Given the description of an element on the screen output the (x, y) to click on. 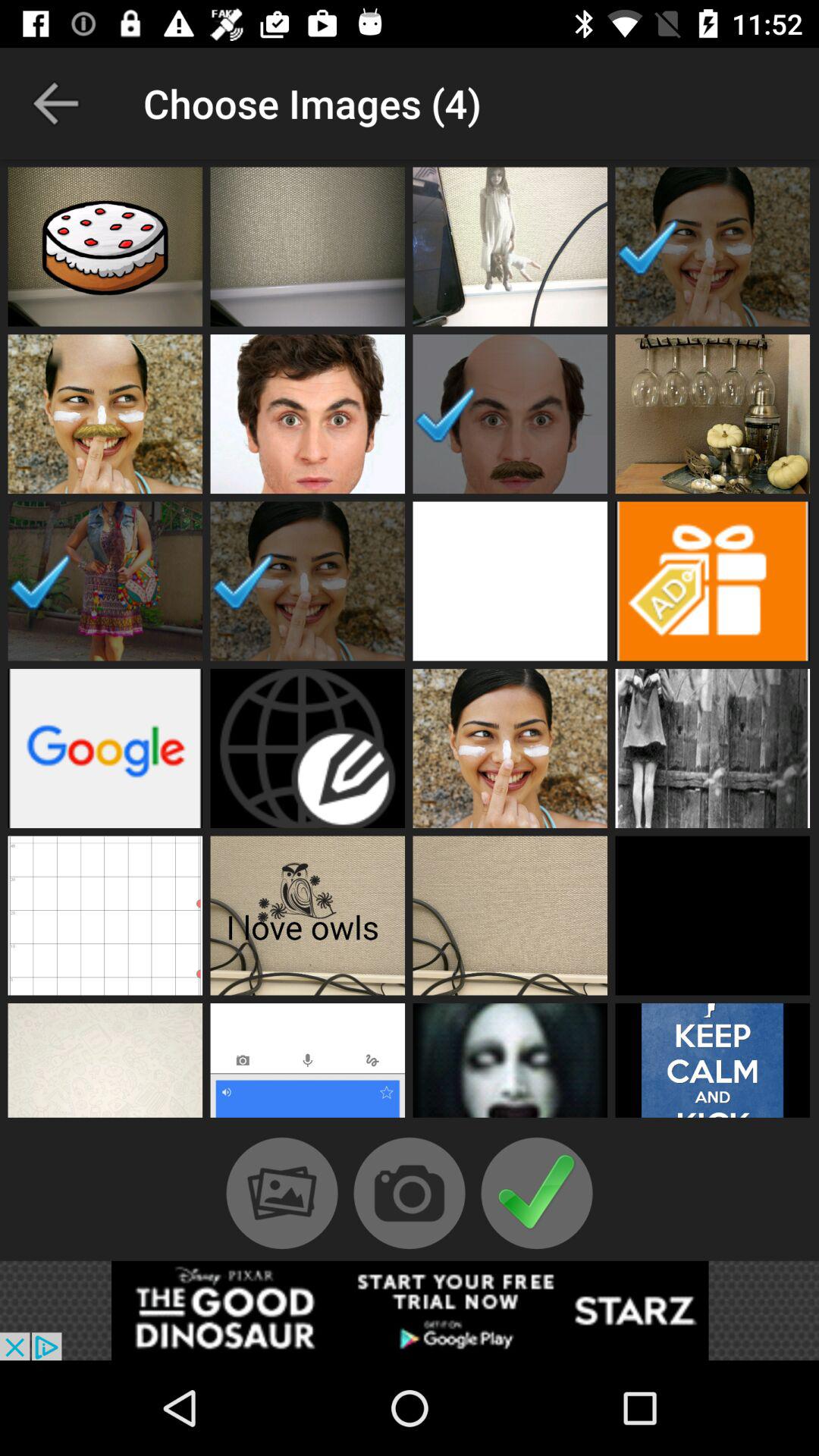
select it (307, 915)
